Given the description of an element on the screen output the (x, y) to click on. 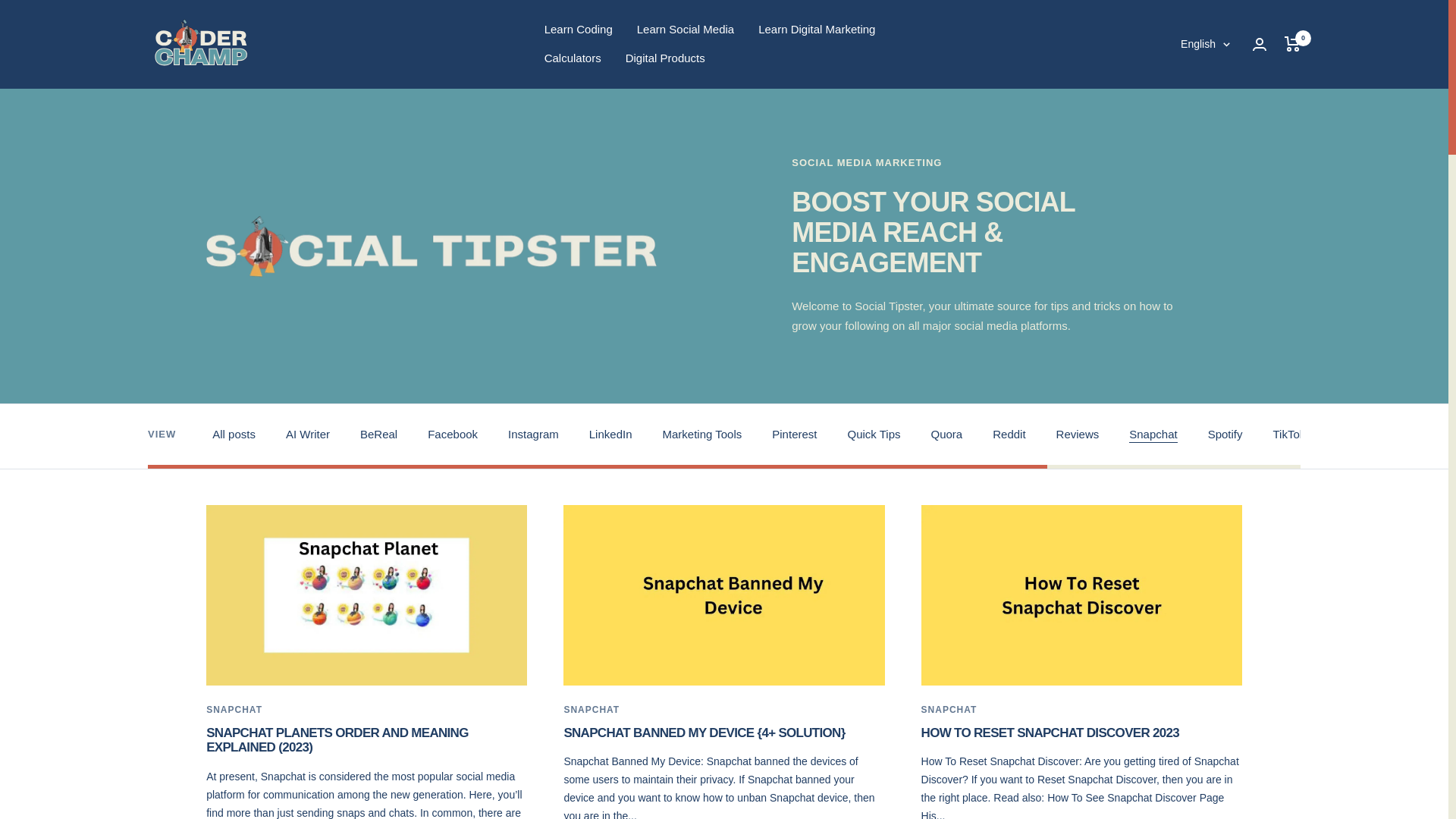
Show products matching tag Facebook (452, 434)
Quick Tips (873, 434)
fr (1195, 121)
Snapchat (1152, 434)
English (1205, 44)
Show products matching tag Pinterest (793, 434)
Facebook (452, 434)
Learn Social Media (685, 29)
Instagram (533, 434)
Show products matching tag AI Writer (307, 434)
Show products matching tag Quora (946, 434)
Remove tag Snapchat (1152, 434)
Marketing Tools (702, 434)
Show products matching tag TikTok (1289, 434)
Pinterest (793, 434)
